Given the description of an element on the screen output the (x, y) to click on. 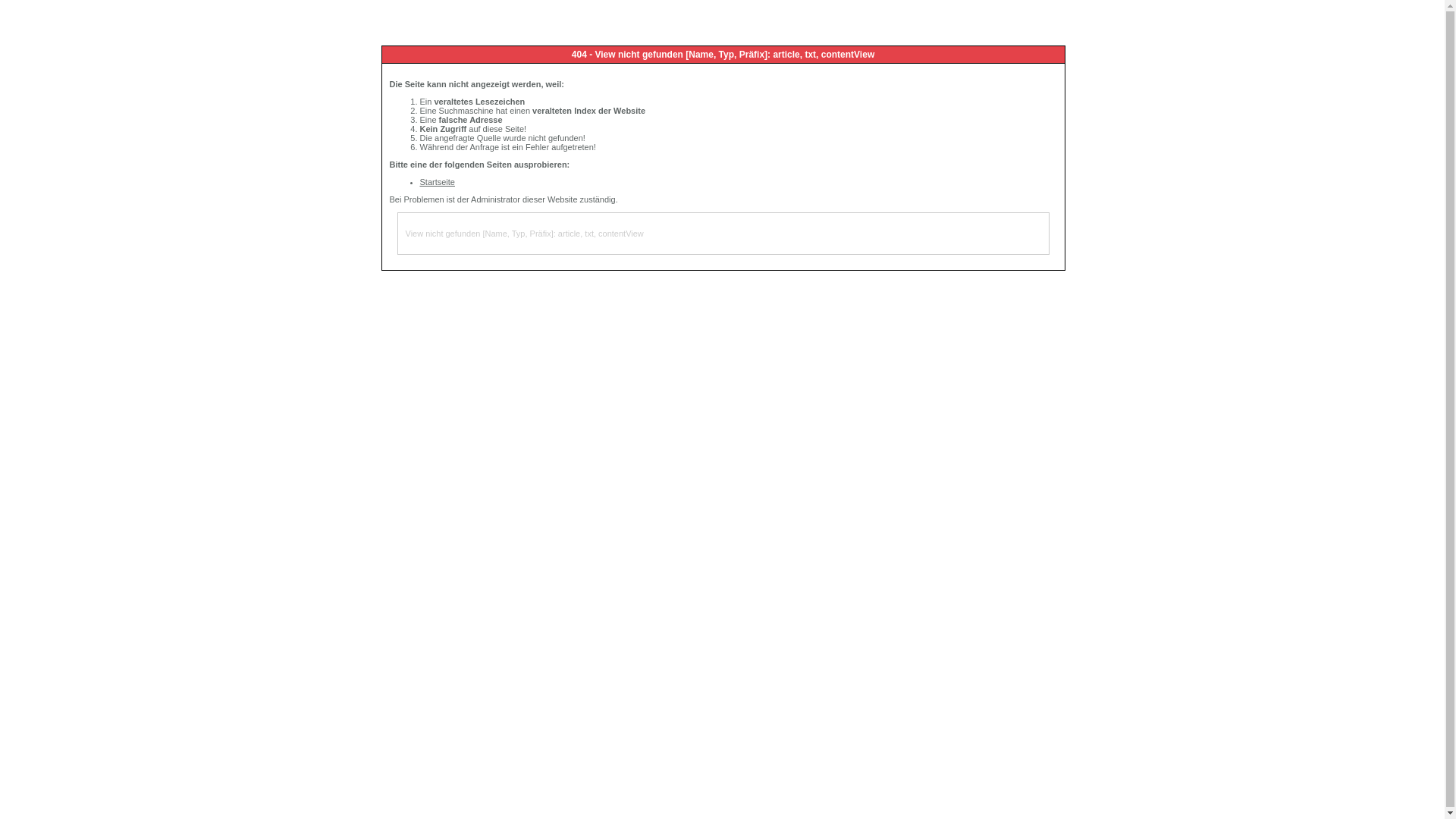
Startseite Element type: text (437, 181)
